Given the description of an element on the screen output the (x, y) to click on. 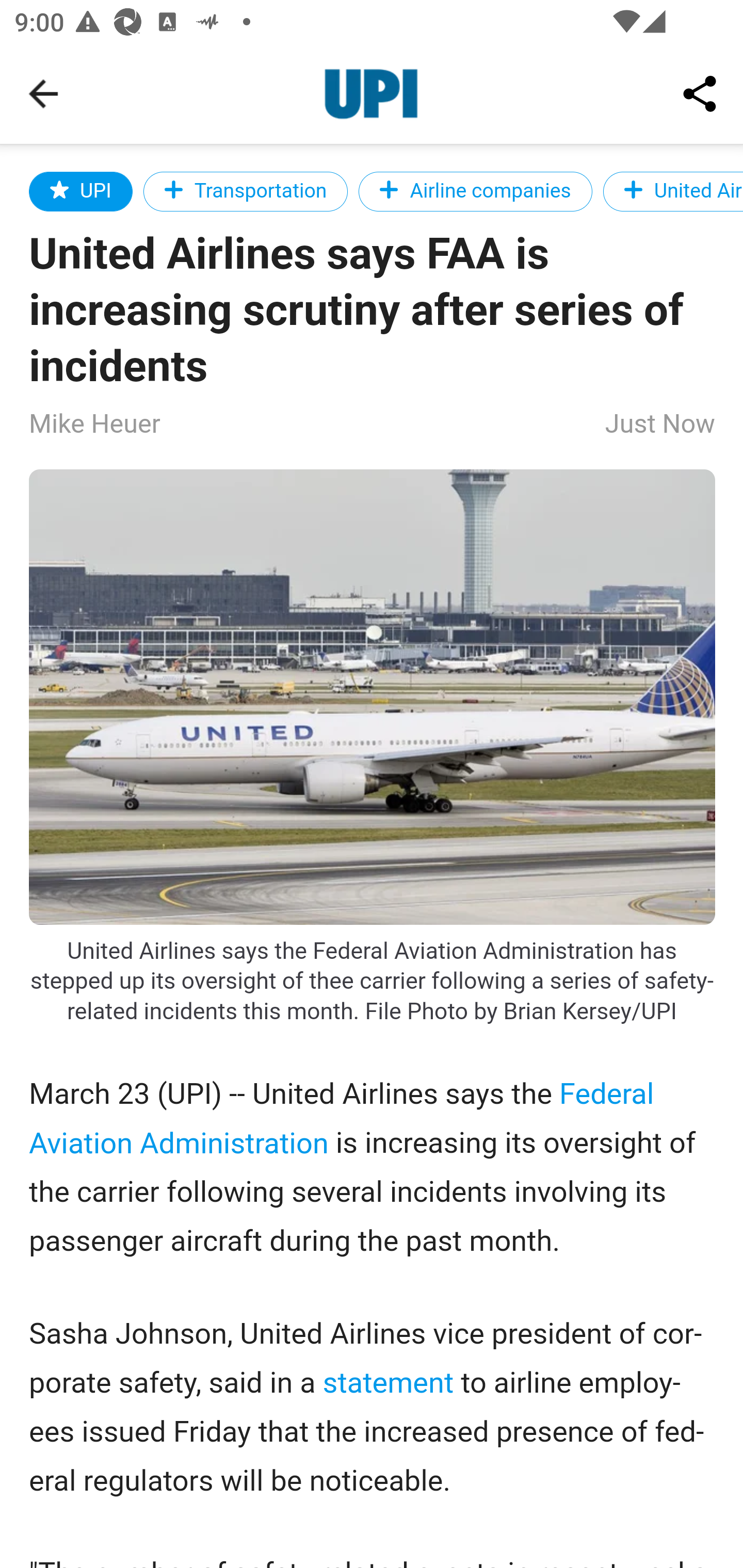
UPI (80, 191)
Transportation (245, 191)
Airline companies (474, 191)
United Airlines (672, 191)
Federal Aviation Administration (341, 1118)
statement (387, 1382)
